Given the description of an element on the screen output the (x, y) to click on. 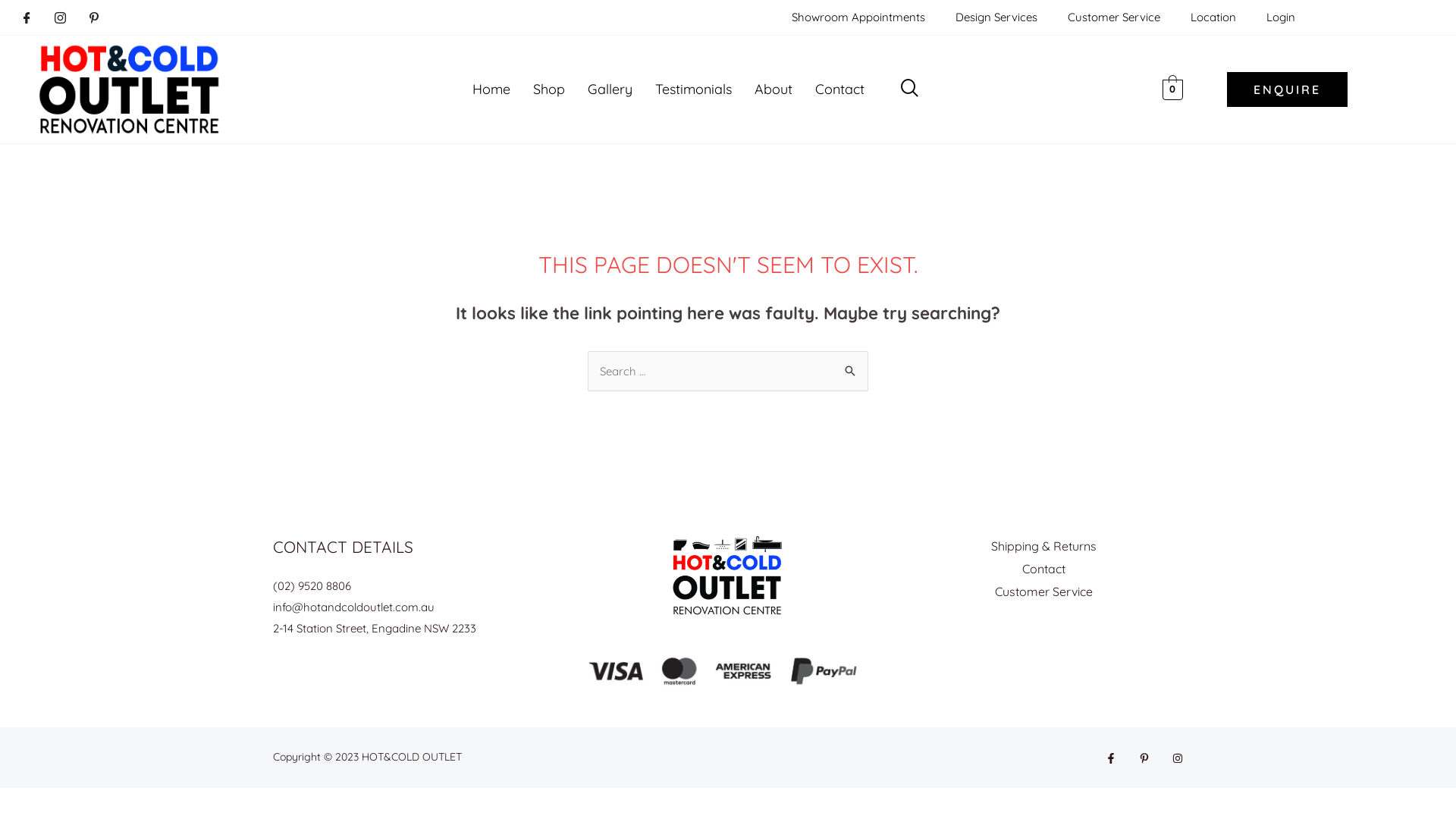
Design Services Element type: text (996, 17)
Contact Element type: text (1043, 569)
(02) 9520 8806 Element type: text (312, 585)
Contact Element type: text (839, 89)
2-14 Station Street, Engadine NSW 2233 Element type: text (374, 628)
Shop Element type: text (548, 89)
Search Element type: text (851, 365)
ENQUIRE Element type: text (1286, 89)
Gallery Element type: text (609, 89)
Customer Service Element type: text (1043, 591)
info@hotandcoldoutlet.com.au Element type: text (353, 606)
About Element type: text (773, 89)
Customer Service Element type: text (1113, 17)
Location Element type: text (1213, 17)
Login Element type: text (1280, 17)
Home Element type: text (491, 89)
Testimonials Element type: text (693, 89)
Shipping & Returns Element type: text (1043, 546)
0 Element type: text (1172, 88)
Showroom Appointments Element type: text (858, 17)
